Given the description of an element on the screen output the (x, y) to click on. 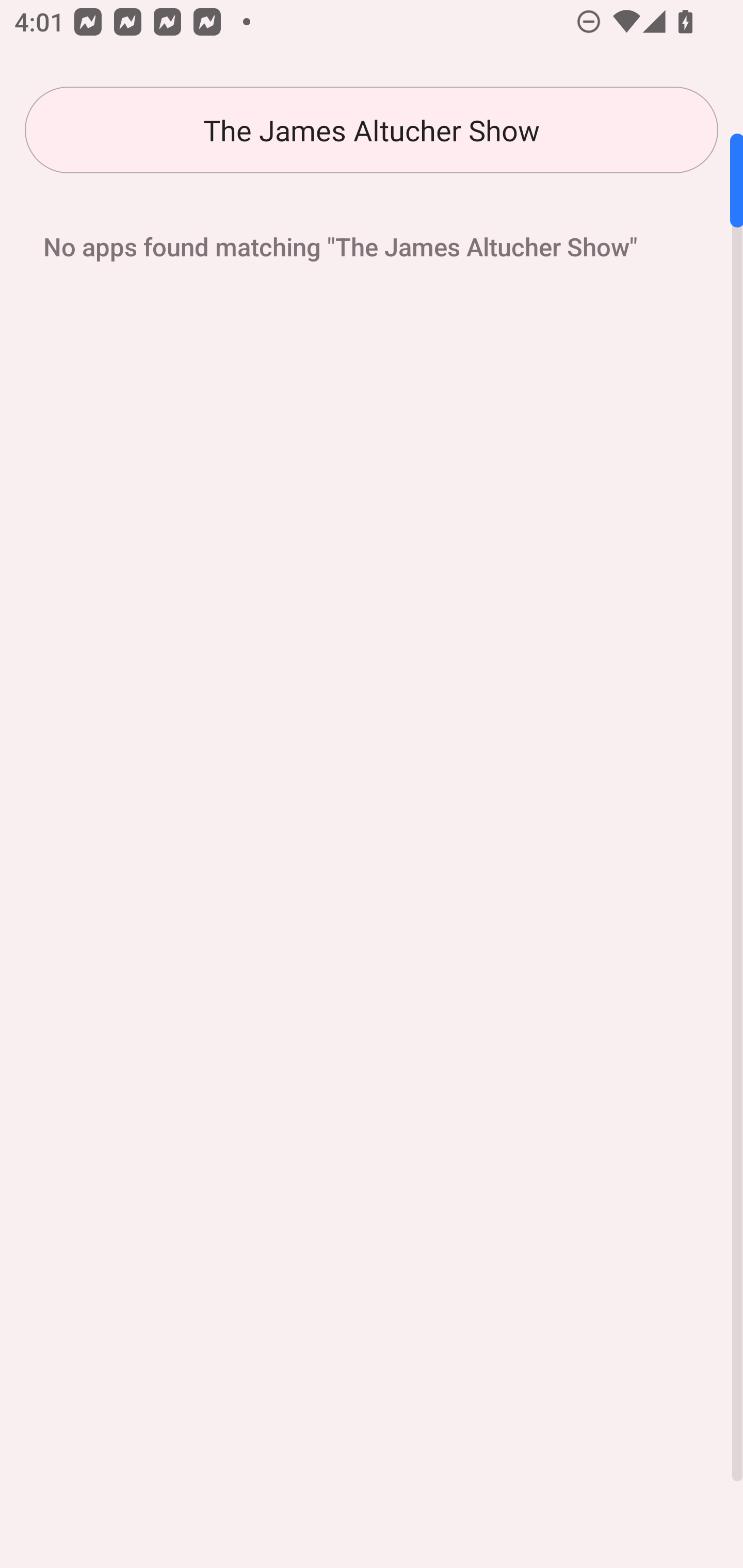
The James Altucher Show (371, 130)
